Given the description of an element on the screen output the (x, y) to click on. 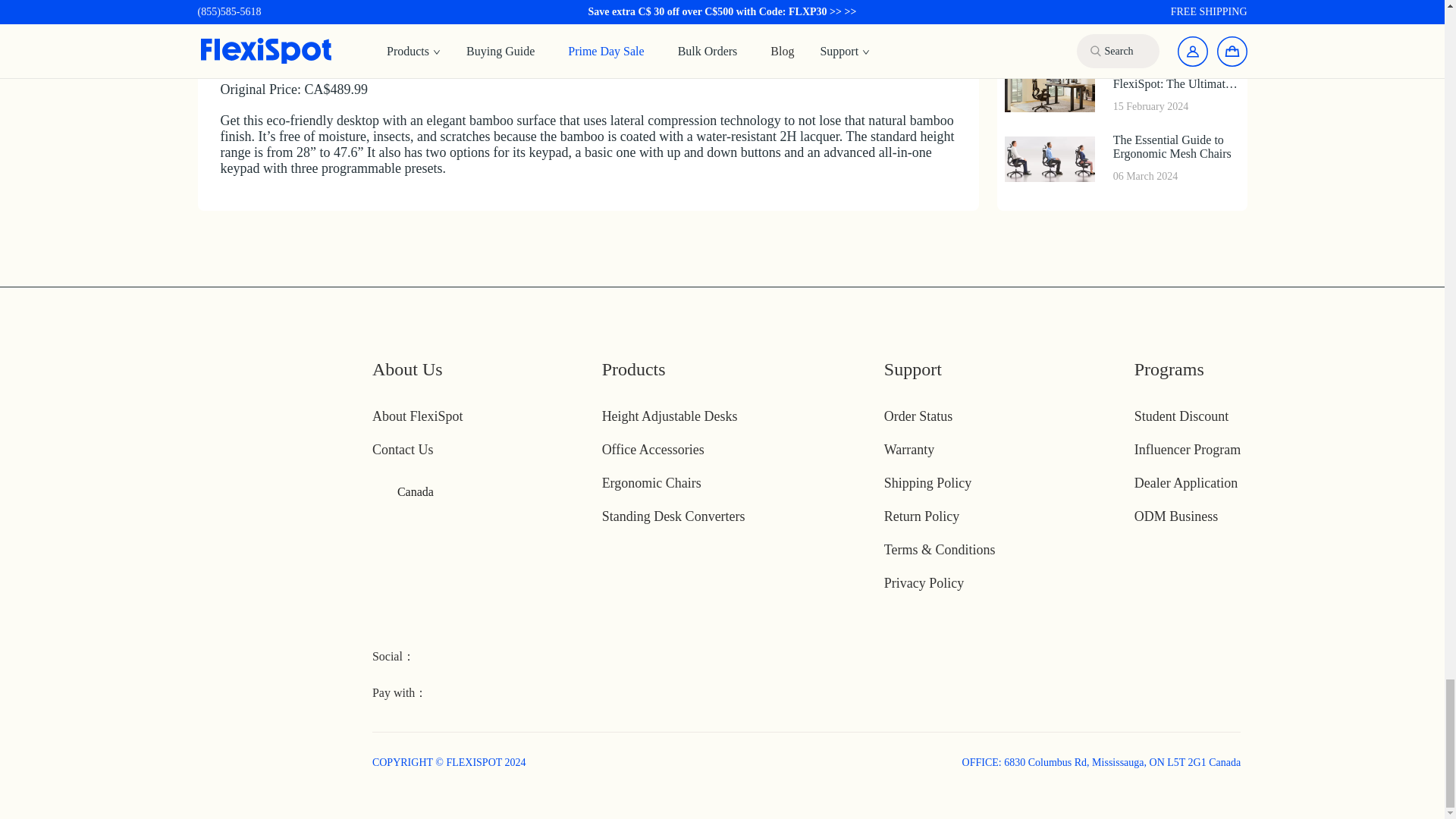
Height Adjustable Desks (670, 416)
About FlexiSpot (417, 416)
Ergonomic Chairs (651, 482)
Kana Bamboo Standing Desk (523, 17)
Warranty (908, 449)
Order Status (917, 416)
Shipping Policy (927, 482)
Contact Us (402, 449)
Standing Desk Converters (673, 516)
Office Accessories (653, 449)
